Given the description of an element on the screen output the (x, y) to click on. 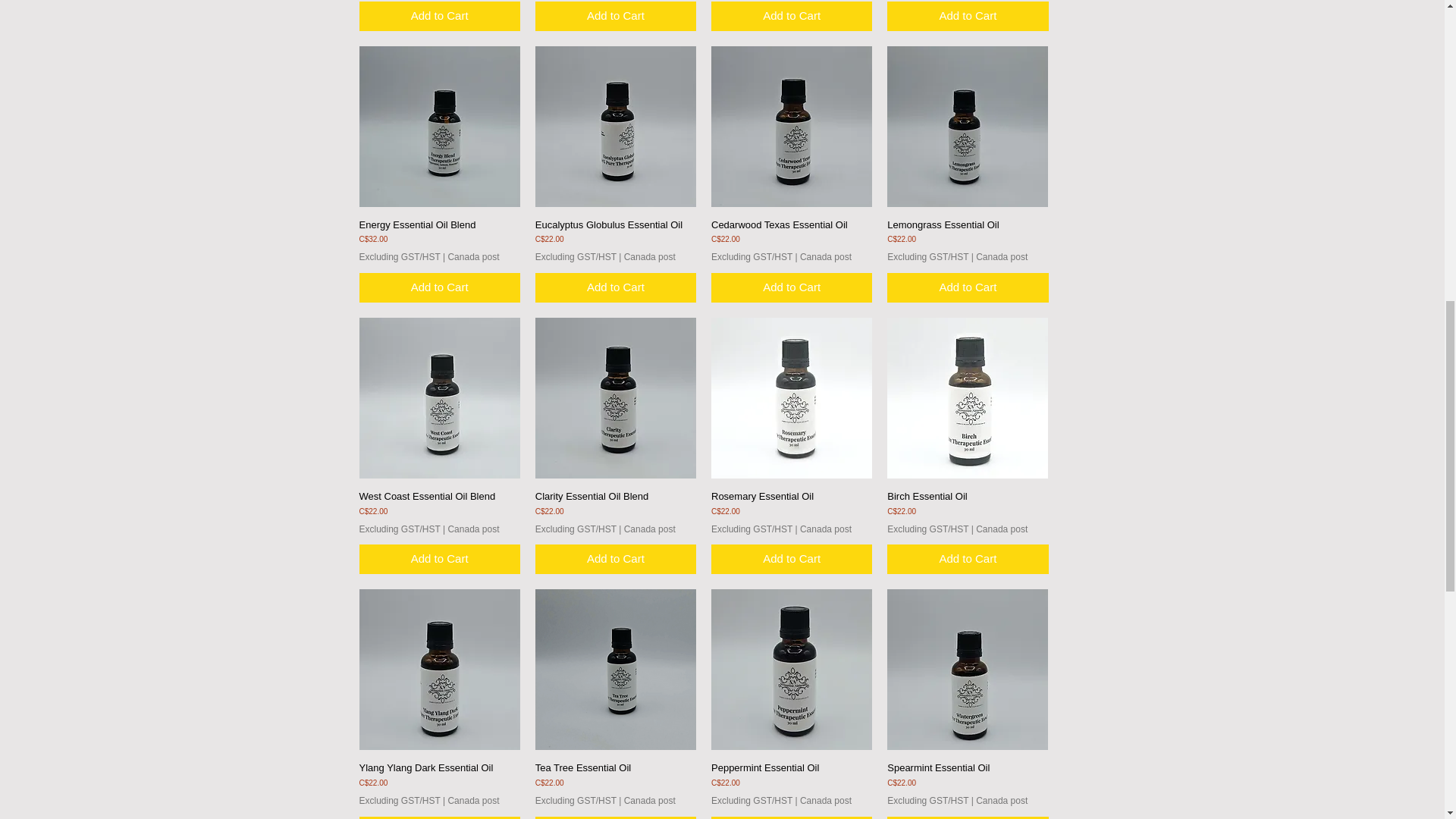
Add to Cart (615, 16)
Add to Cart (791, 16)
Add to Cart (439, 16)
